Given the description of an element on the screen output the (x, y) to click on. 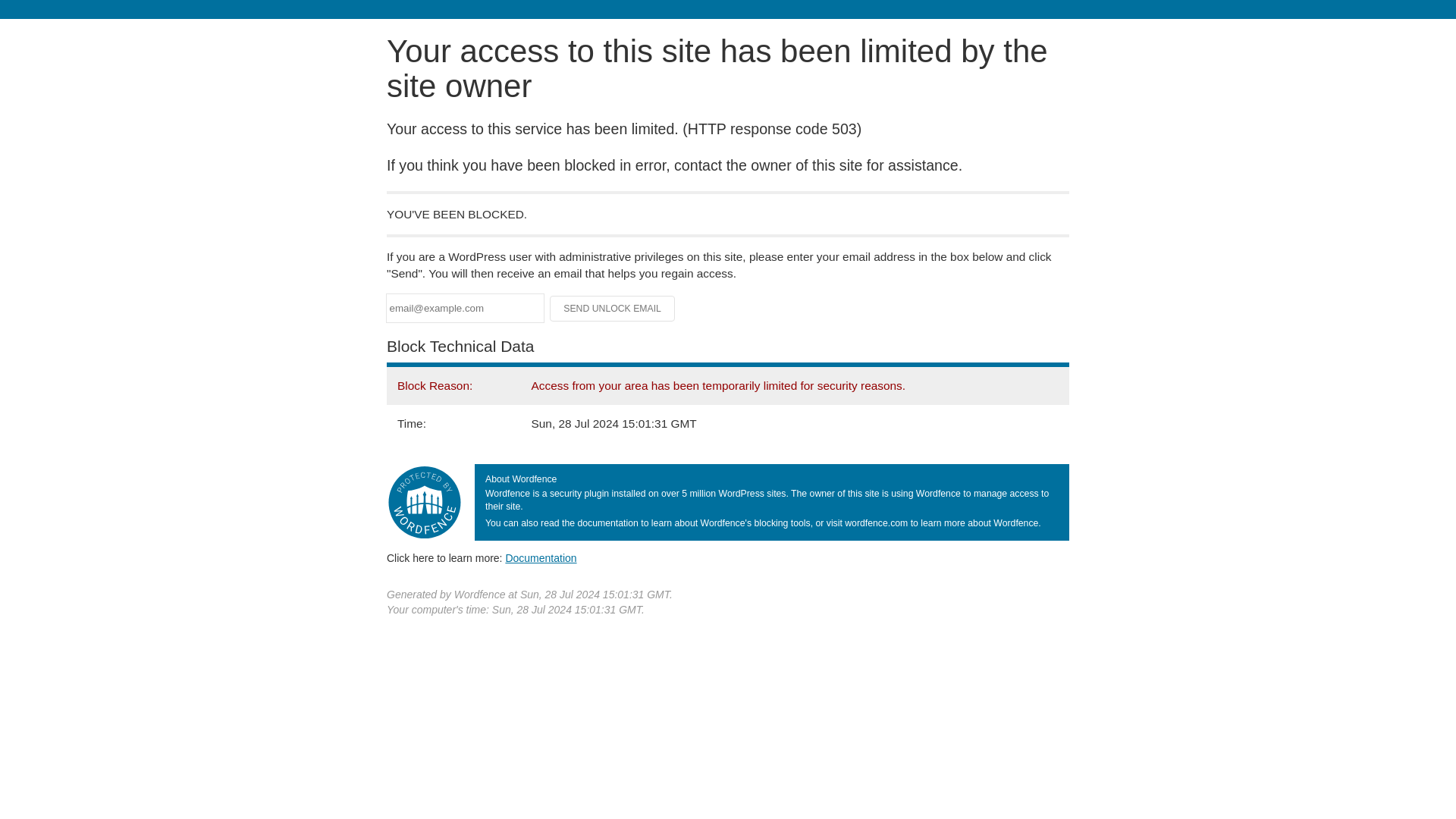
Documentation (540, 558)
Send Unlock Email (612, 308)
Send Unlock Email (612, 308)
